Given the description of an element on the screen output the (x, y) to click on. 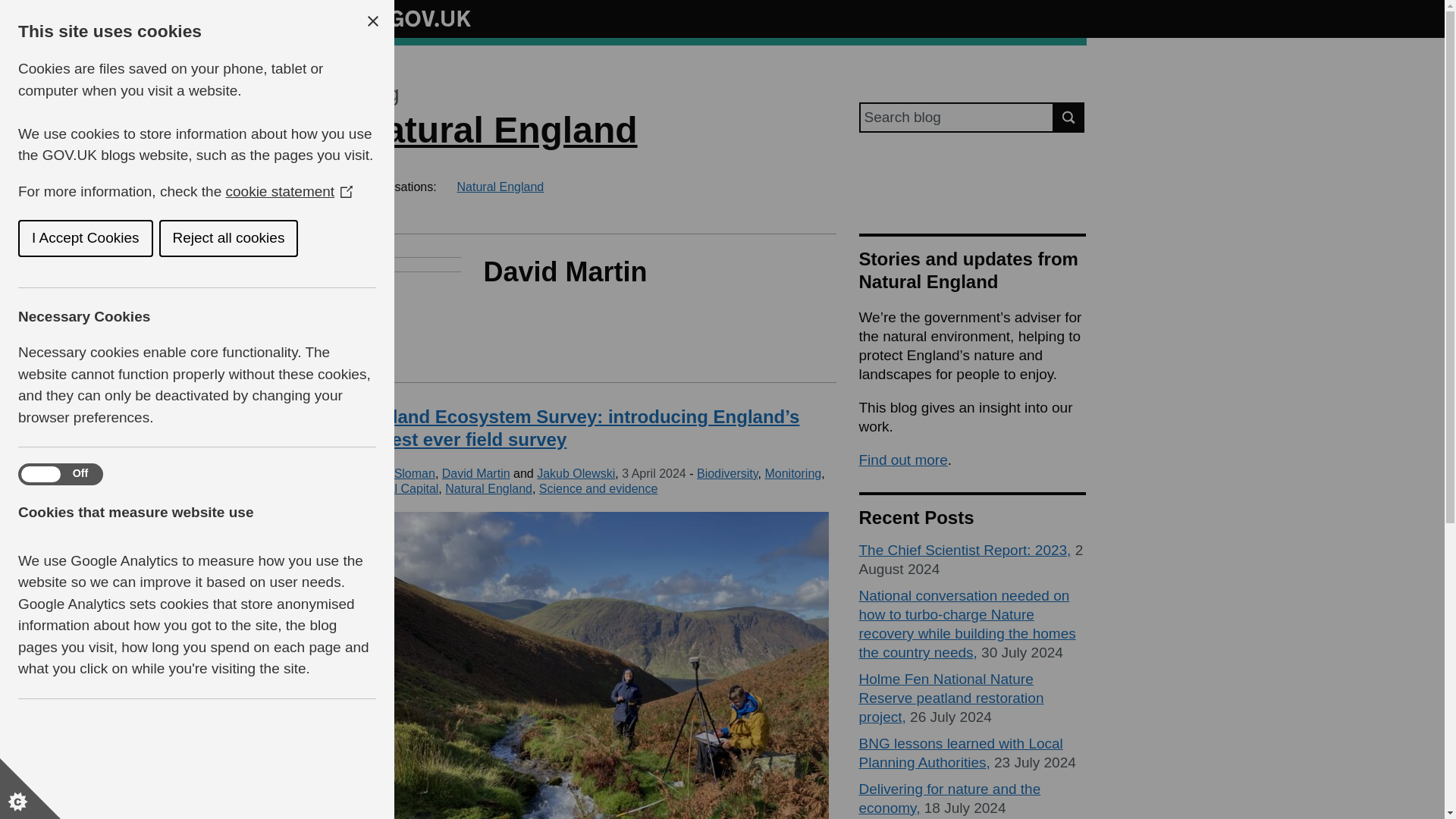
Blog (378, 93)
Find out more (903, 459)
Posts by Jakub Olewski (575, 472)
Delivering for nature and the economy (950, 798)
Skip to main content (11, 7)
The Chief Scientist Report: 2023 (964, 549)
Biodiversity (727, 472)
GOV.UK (414, 18)
Search (1069, 117)
Posts by David Martin (476, 472)
Go to the GOV.UK homepage (414, 18)
Reject all cookies (50, 238)
Natural Capital (398, 488)
